Given the description of an element on the screen output the (x, y) to click on. 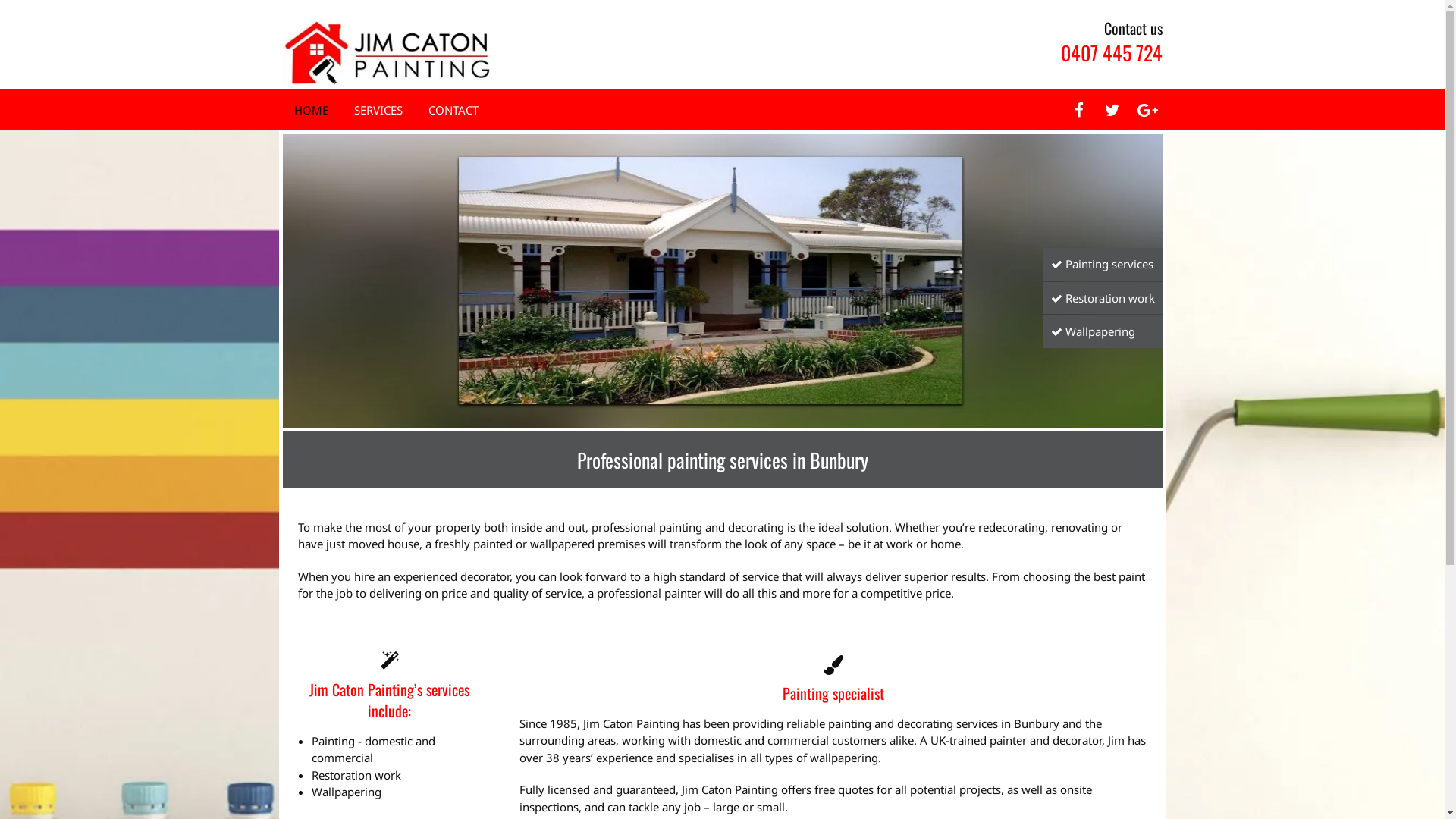
0407 445 724 Element type: text (1110, 52)
CONTACT Element type: text (452, 110)
SERVICES Element type: text (377, 110)
HOME Element type: text (311, 110)
jim caton painting logo Element type: hover (389, 51)
jim caton painting professional painting services Element type: hover (721, 280)
